Given the description of an element on the screen output the (x, y) to click on. 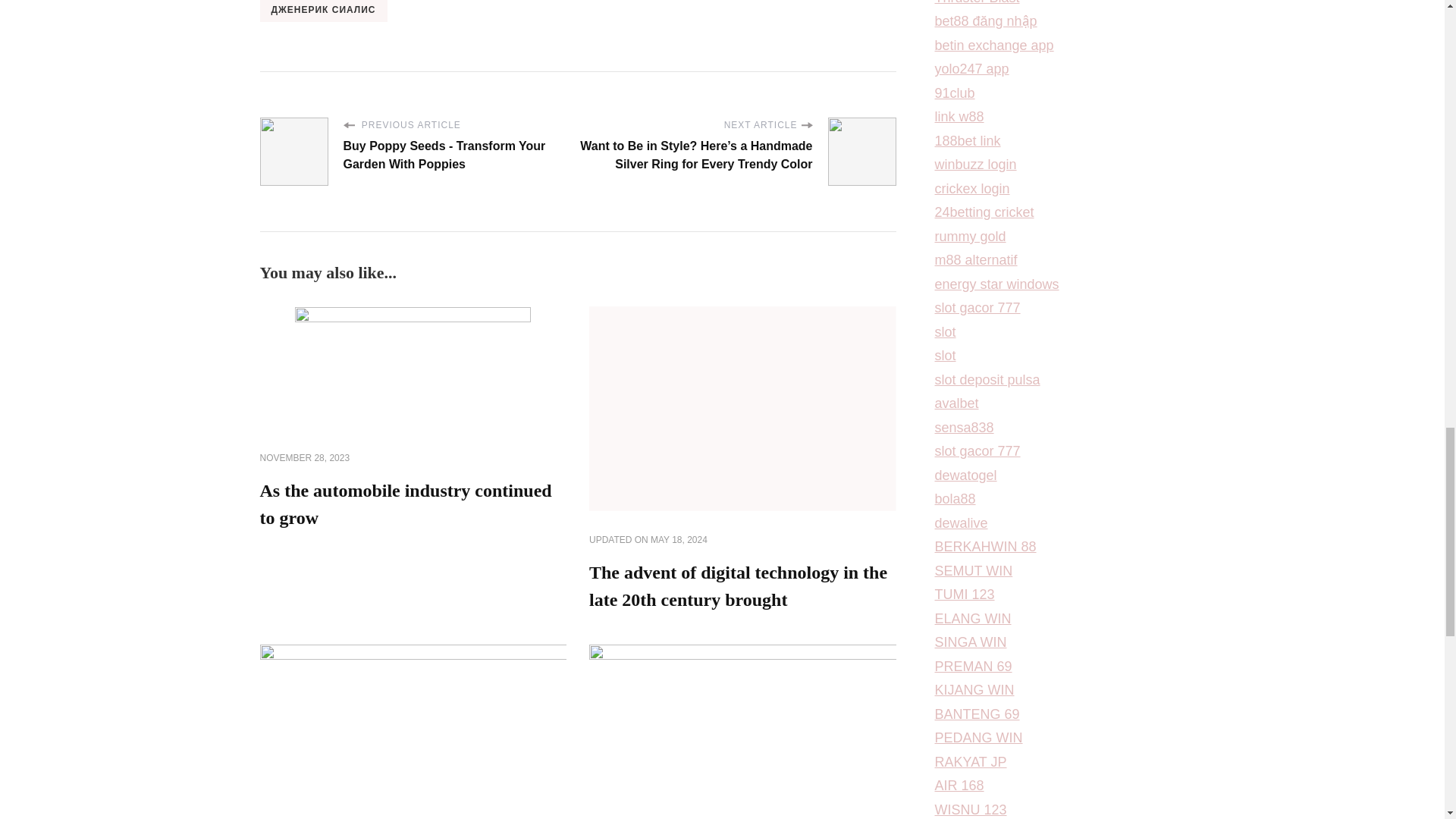
NOVEMBER 28, 2023 (304, 459)
MAY 18, 2024 (678, 540)
As the automobile industry continued to grow (405, 503)
